Given the description of an element on the screen output the (x, y) to click on. 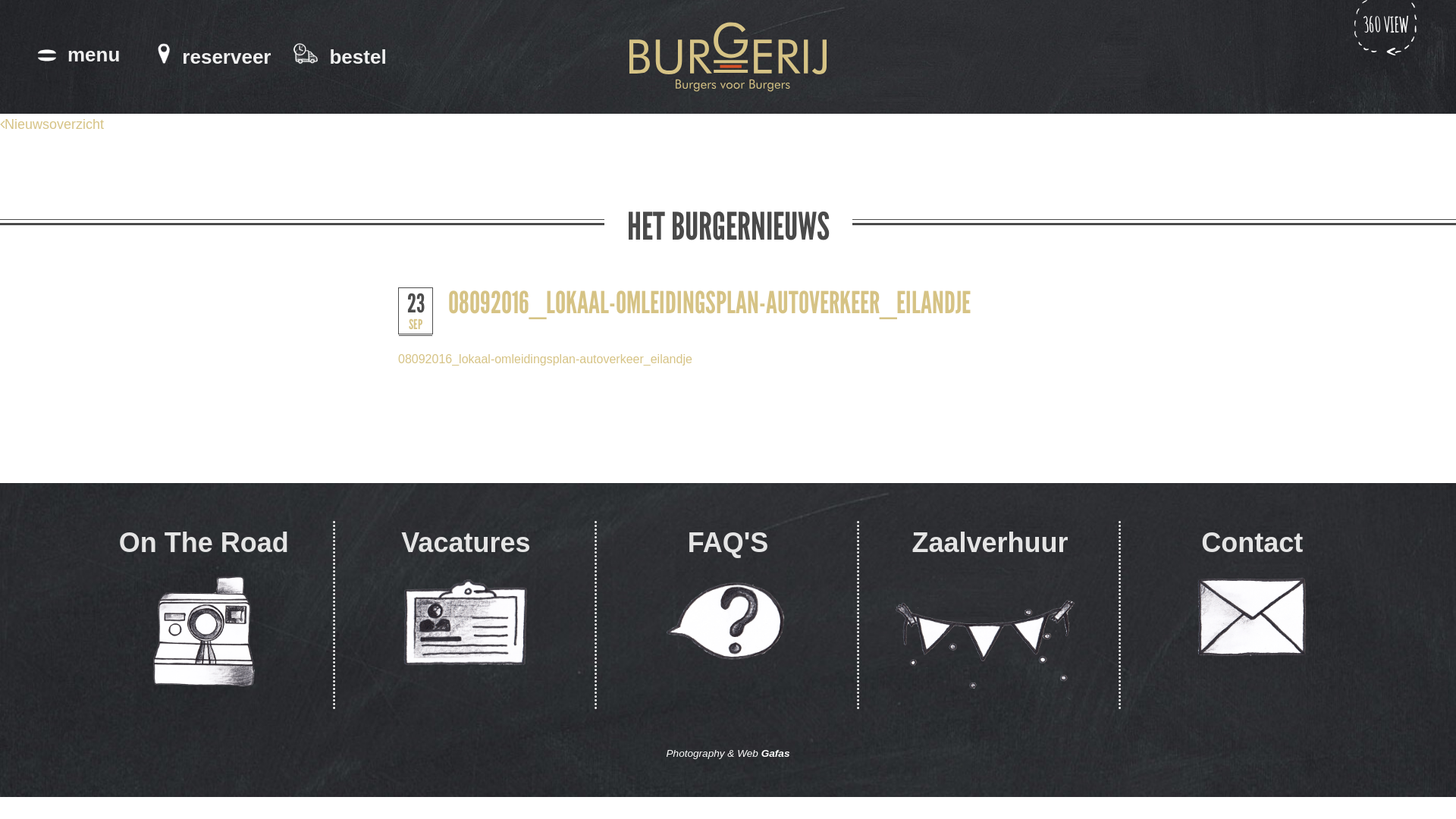
08092016_lokaal-omleidingsplan-autoverkeer_eilandje Element type: text (545, 358)
FAQ'S Element type: text (727, 615)
On The Road Element type: text (203, 615)
reserveer Element type: text (213, 55)
bestel Element type: text (339, 55)
360 view Element type: hover (1386, 61)
Zaalverhuur Element type: text (990, 615)
Photography & Web Gafas Element type: text (727, 753)
Vacatures Element type: text (466, 615)
Nieuwsoverzicht Element type: text (51, 123)
Contact Element type: text (1251, 615)
